Given the description of an element on the screen output the (x, y) to click on. 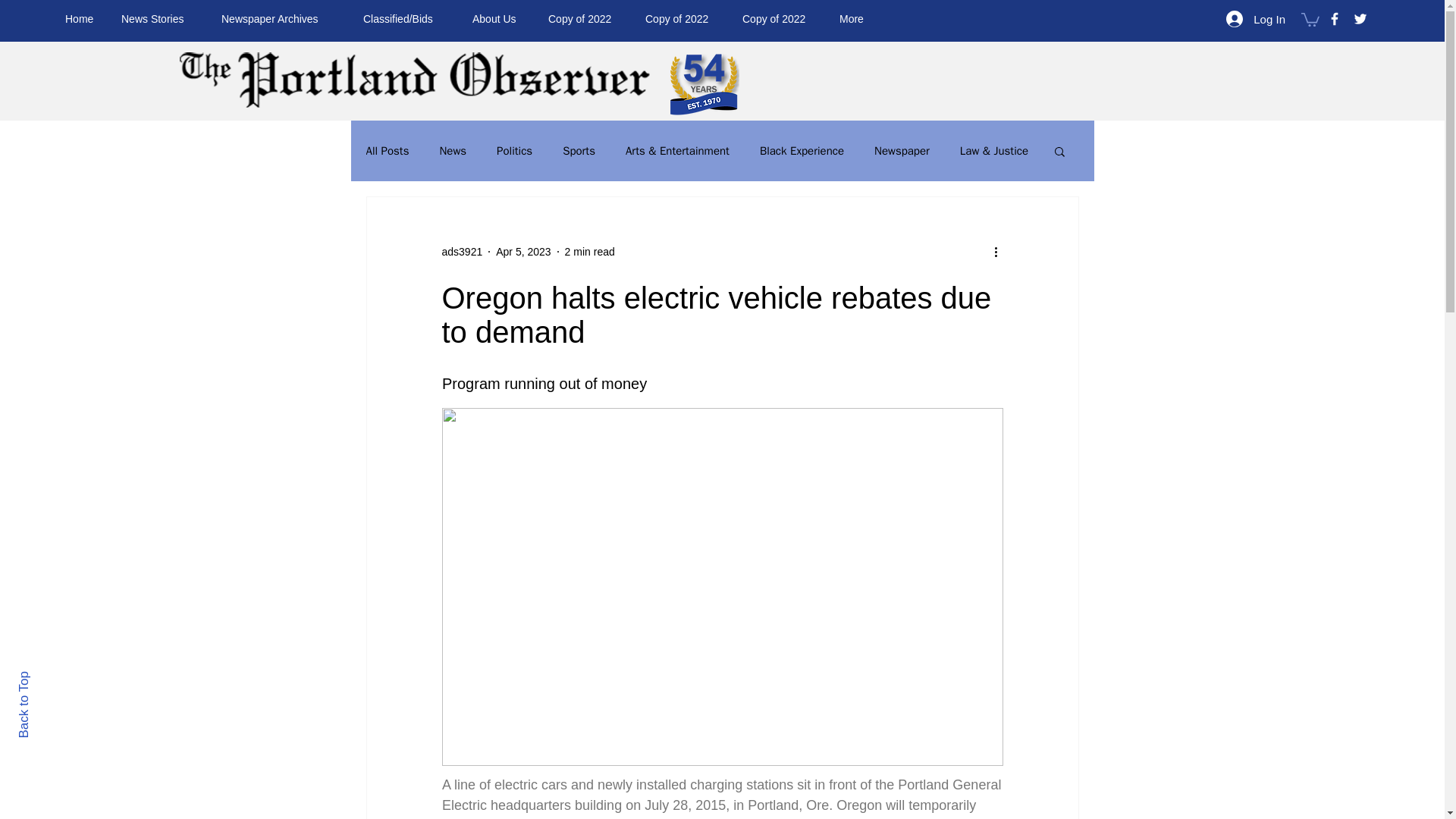
Log In (1255, 18)
Home (81, 18)
Politics (514, 151)
Copy of 2022 (585, 18)
About Us (499, 18)
News (452, 151)
Copy of 2022 (779, 18)
ads3921 (461, 252)
Copy of 2022 (681, 18)
Apr 5, 2023 (523, 251)
Newspaper Archives (280, 18)
2 min read (589, 251)
News Stories (159, 18)
All Posts (387, 151)
